Given the description of an element on the screen output the (x, y) to click on. 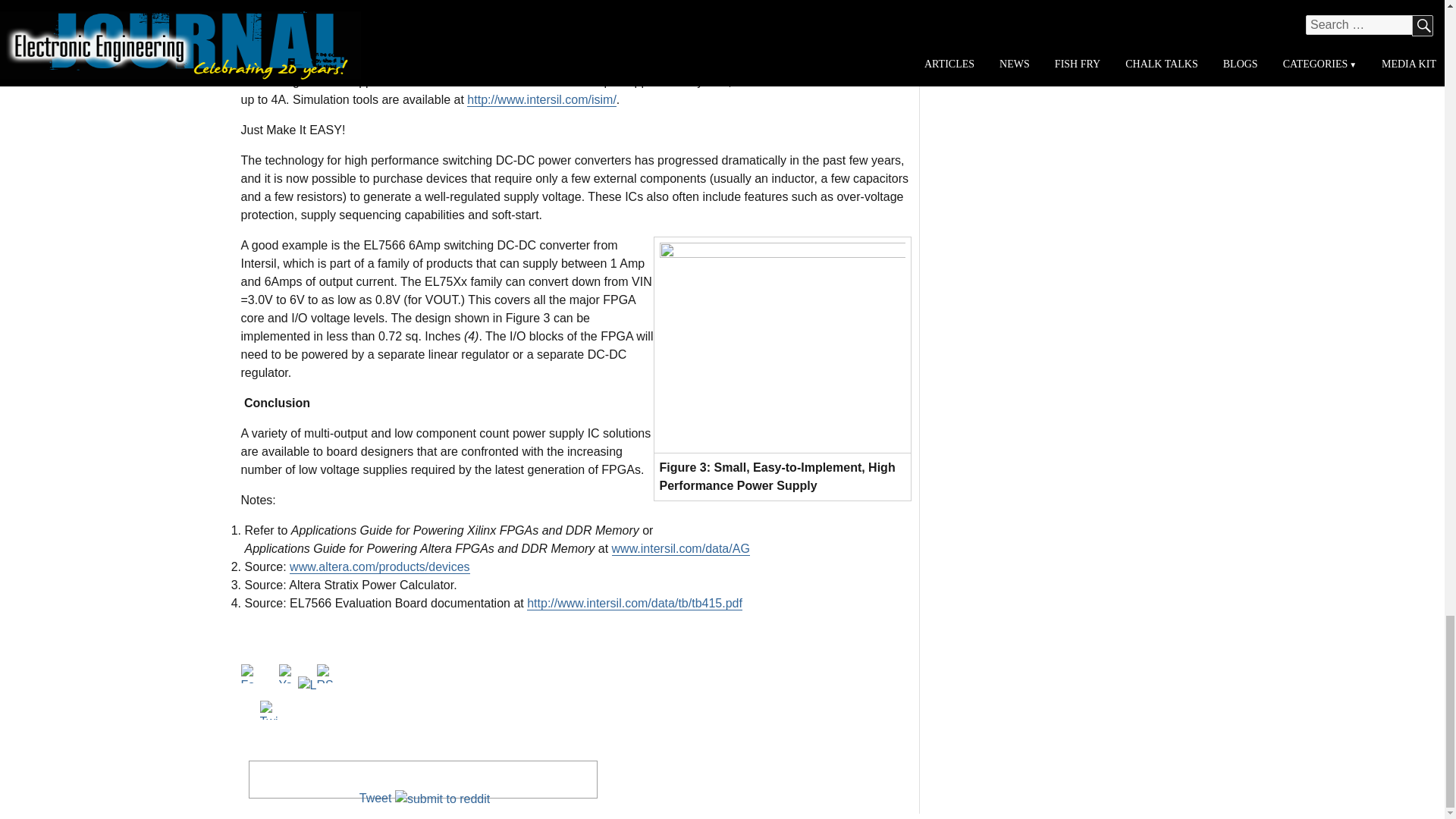
YouTube (288, 673)
Twitter (268, 710)
Facebook (250, 673)
LinkedIn (306, 685)
Tweet (375, 797)
RSS Feed (326, 673)
